Given the description of an element on the screen output the (x, y) to click on. 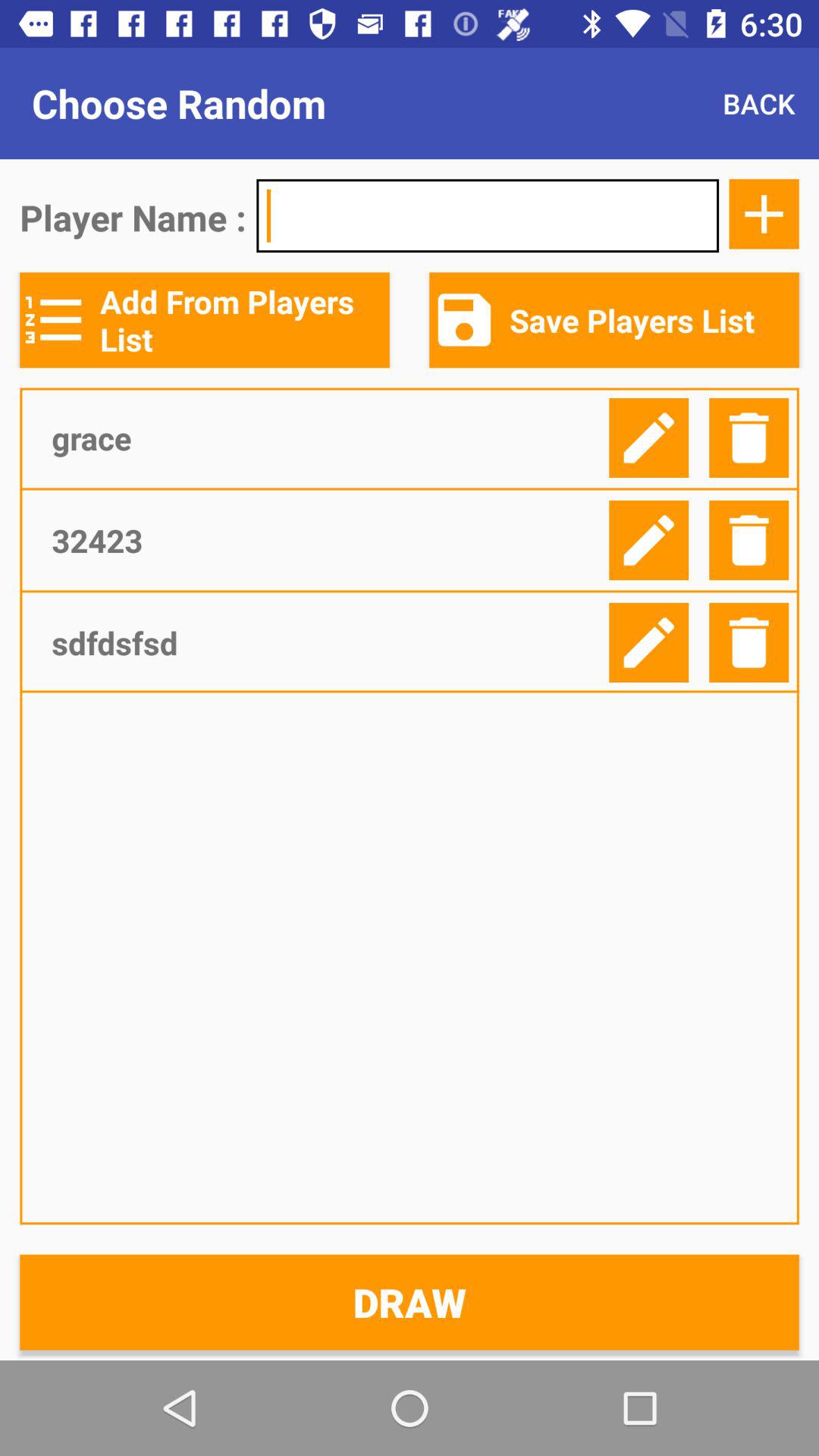
delete grace button (748, 437)
